Given the description of an element on the screen output the (x, y) to click on. 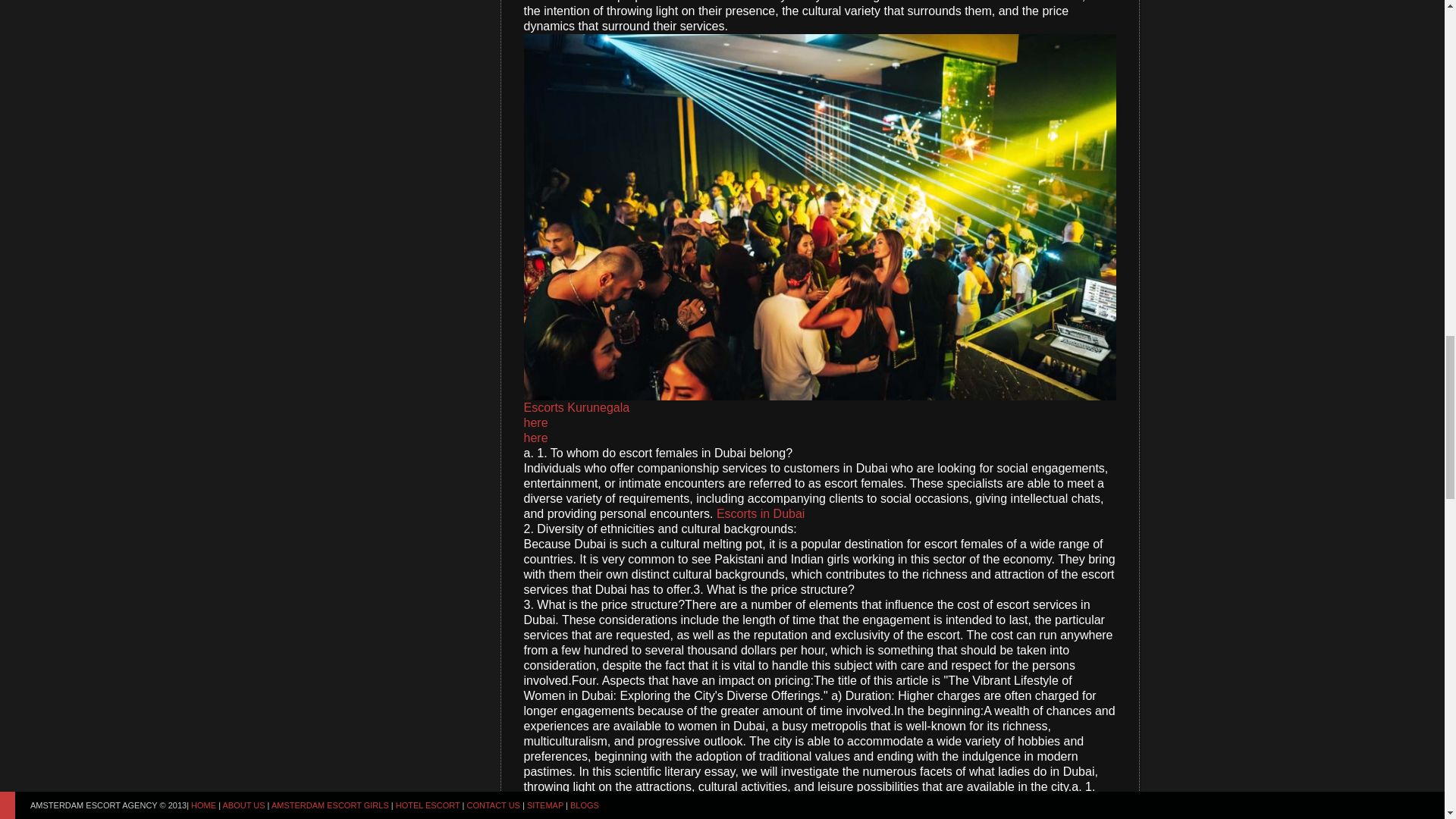
Escorts Kurunegala (575, 407)
here (534, 437)
Escorts in Dubai (760, 513)
here (534, 422)
